Given the description of an element on the screen output the (x, y) to click on. 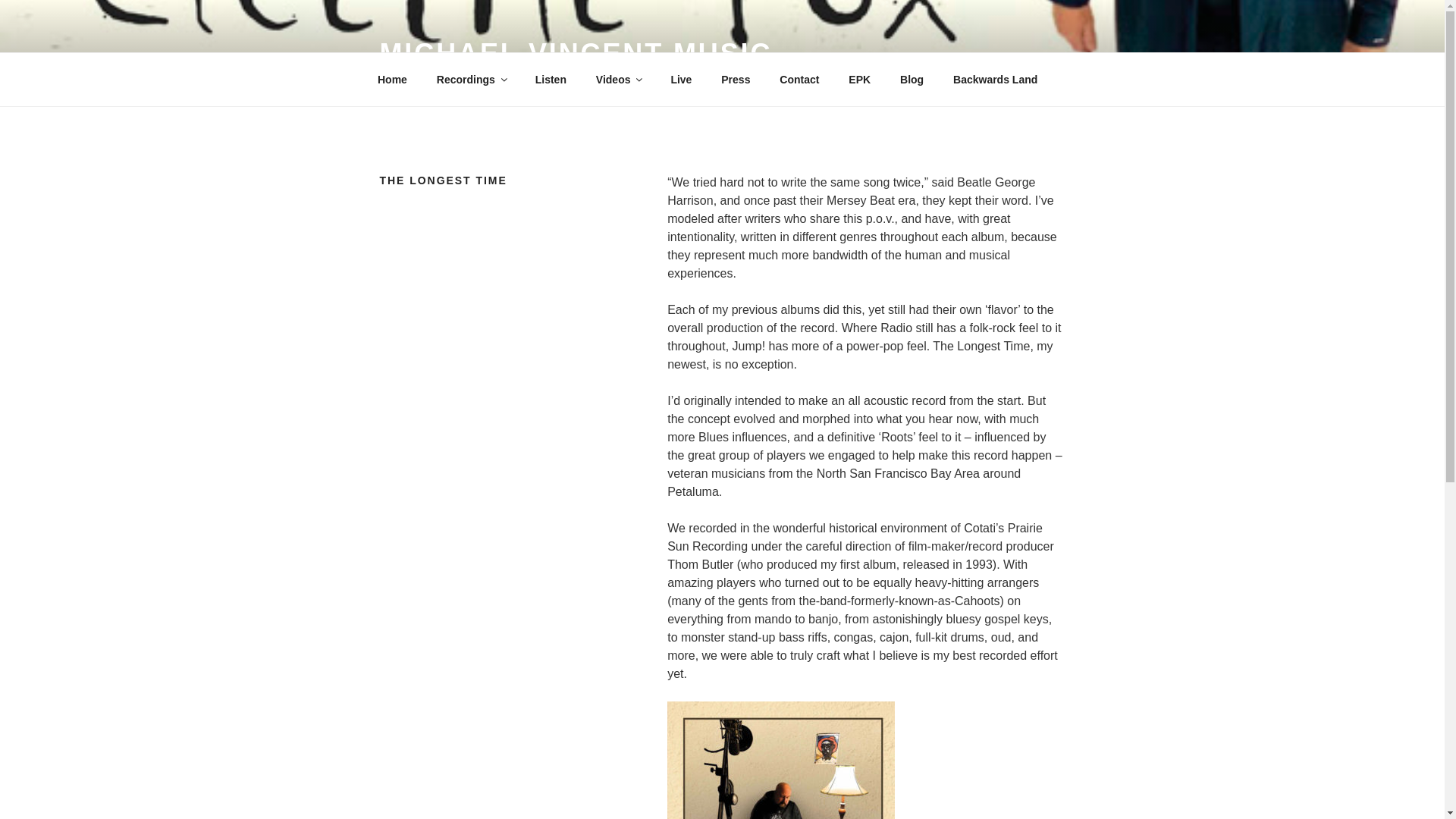
Listen (550, 78)
Videos (617, 78)
Recordings (470, 78)
MICHAEL VINCENT MUSIC (574, 52)
Live (681, 78)
Backwards Land (995, 78)
EPK (859, 78)
Press (734, 78)
Contact (799, 78)
Blog (911, 78)
